Given the description of an element on the screen output the (x, y) to click on. 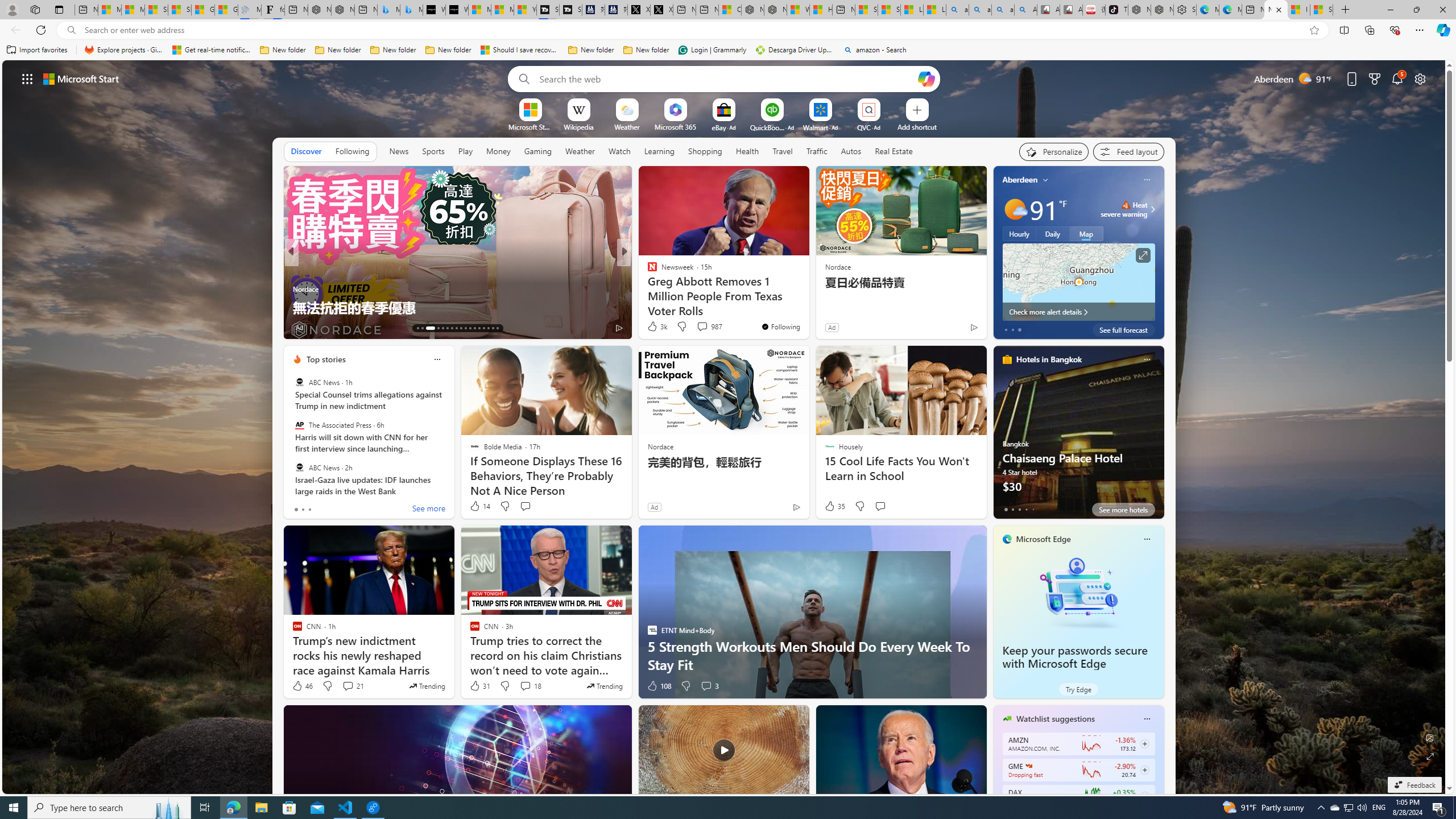
Expand background (1430, 756)
432 Like (654, 327)
View comments 174 Comment (703, 327)
Class: follow-button  m (1144, 795)
View comments 156 Comment (6, 327)
View comments 22 Comment (703, 327)
Page settings (1420, 78)
AutomationID: waffle (27, 78)
31 Like (479, 685)
Map (1085, 233)
AutomationID: tab-24 (474, 328)
